Given the description of an element on the screen output the (x, y) to click on. 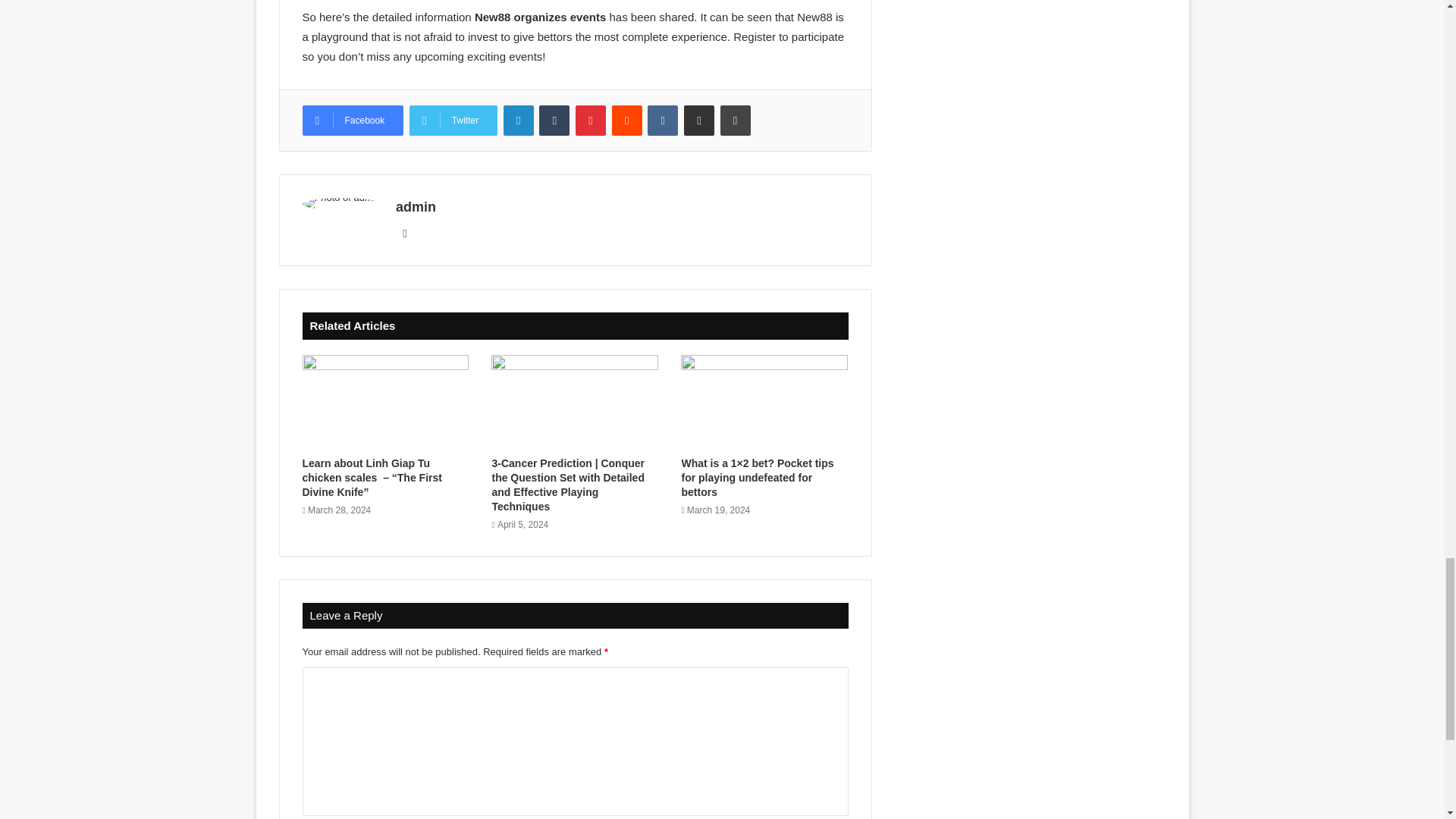
Twitter (453, 120)
admin (415, 206)
LinkedIn (518, 120)
Share via Email (699, 120)
Print (735, 120)
VKontakte (662, 120)
Reddit (626, 120)
Website (404, 233)
Pinterest (590, 120)
VKontakte (662, 120)
